Given the description of an element on the screen output the (x, y) to click on. 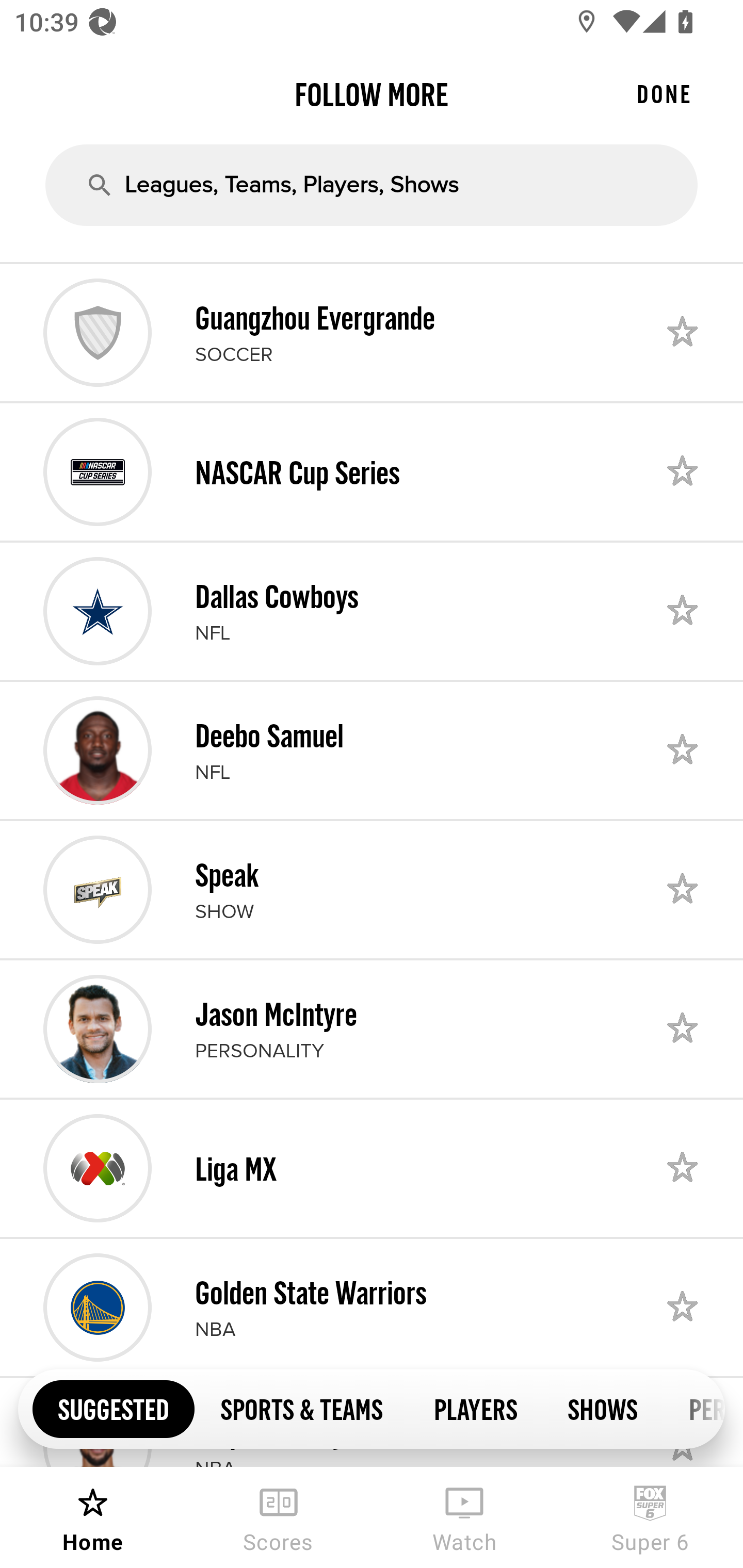
DONE (663, 93)
Leagues, Teams, Players, Shows (371, 184)
Guangzhou Evergrande SOCCER (371, 332)
NASCAR Cup Series (371, 471)
Dallas Cowboys NFL (371, 611)
Deebo Samuel NFL (371, 750)
Speak SHOW (371, 889)
Jason McIntyre PERSONALITY (371, 1028)
Liga MX (371, 1168)
Golden State Warriors NBA (371, 1307)
SPORTS & TEAMS (300, 1408)
PLAYERS (474, 1408)
SHOWS (602, 1408)
Scores (278, 1517)
Watch (464, 1517)
Super 6 (650, 1517)
